Given the description of an element on the screen output the (x, y) to click on. 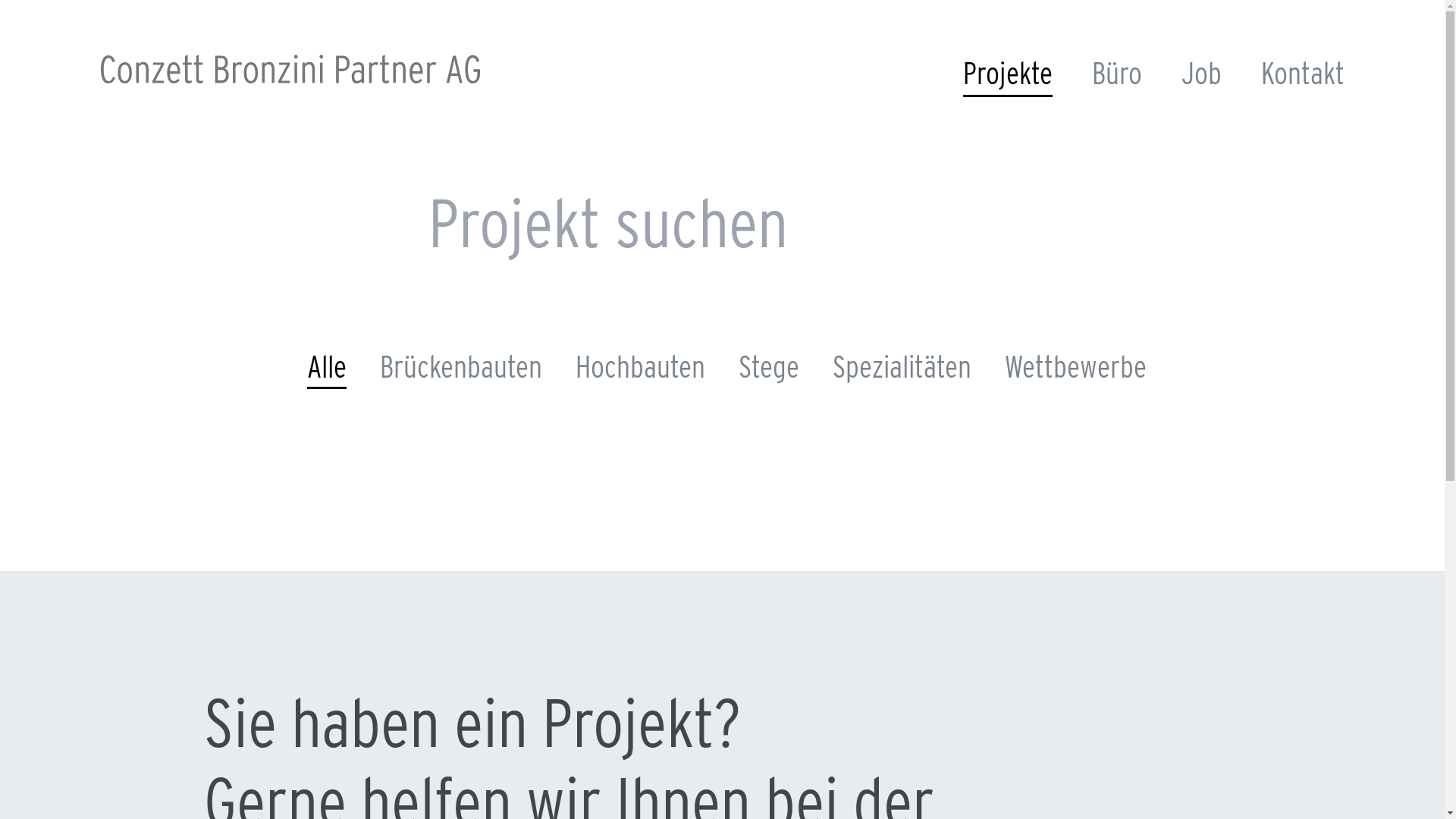
Projekte Element type: text (1007, 76)
Job Element type: text (1201, 74)
Conzett Bronzini Partner AG Element type: hover (290, 68)
